Given the description of an element on the screen output the (x, y) to click on. 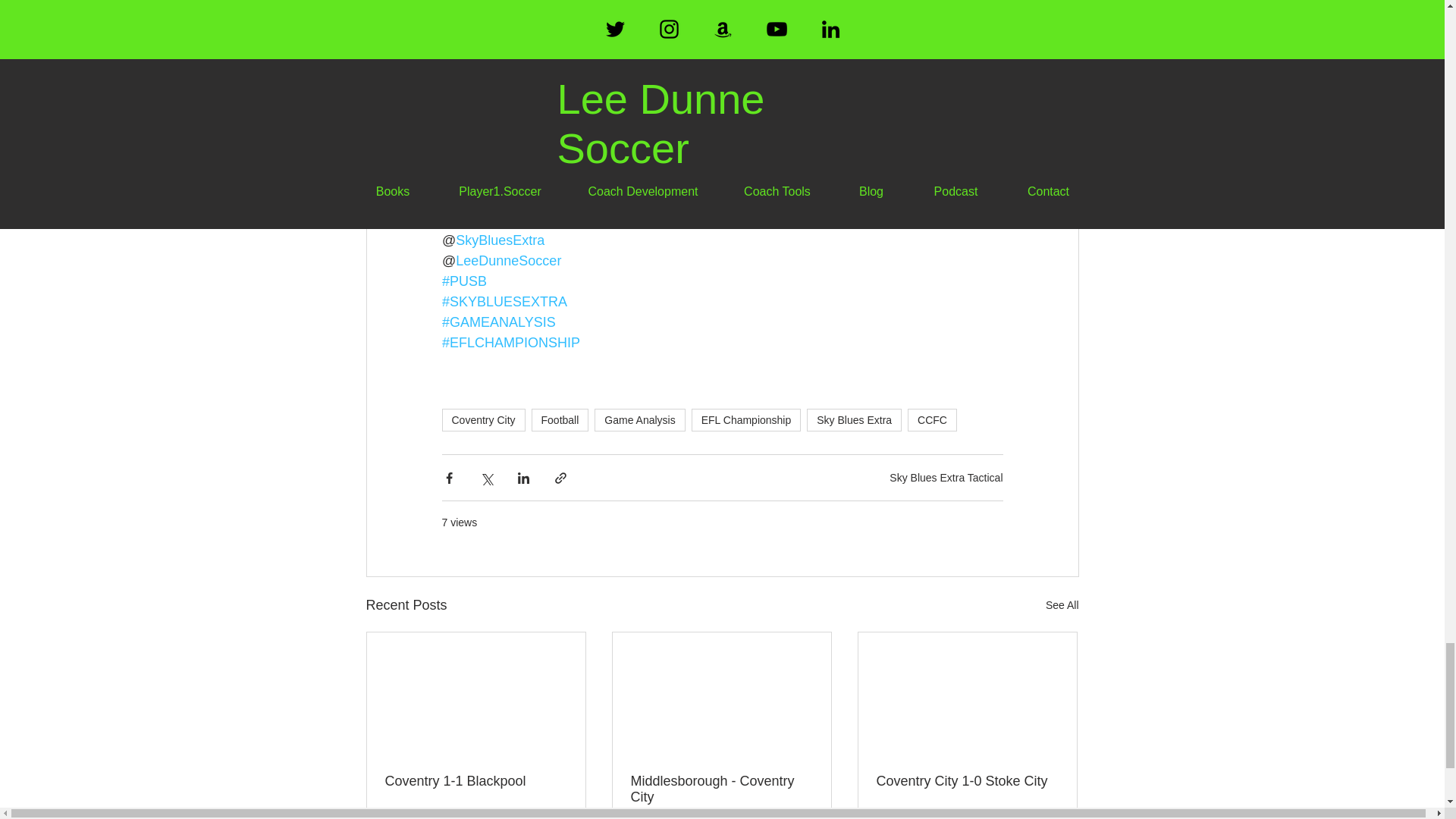
Football (560, 419)
SkyBluesExtra (499, 240)
SBETactical (491, 219)
Coventry City (482, 419)
whoscored (554, 199)
EFL Championship (746, 419)
LeeDunneSoccer (507, 260)
Sky Blues Extra (853, 419)
CCFC (931, 419)
Game Analysis (639, 419)
